Given the description of an element on the screen output the (x, y) to click on. 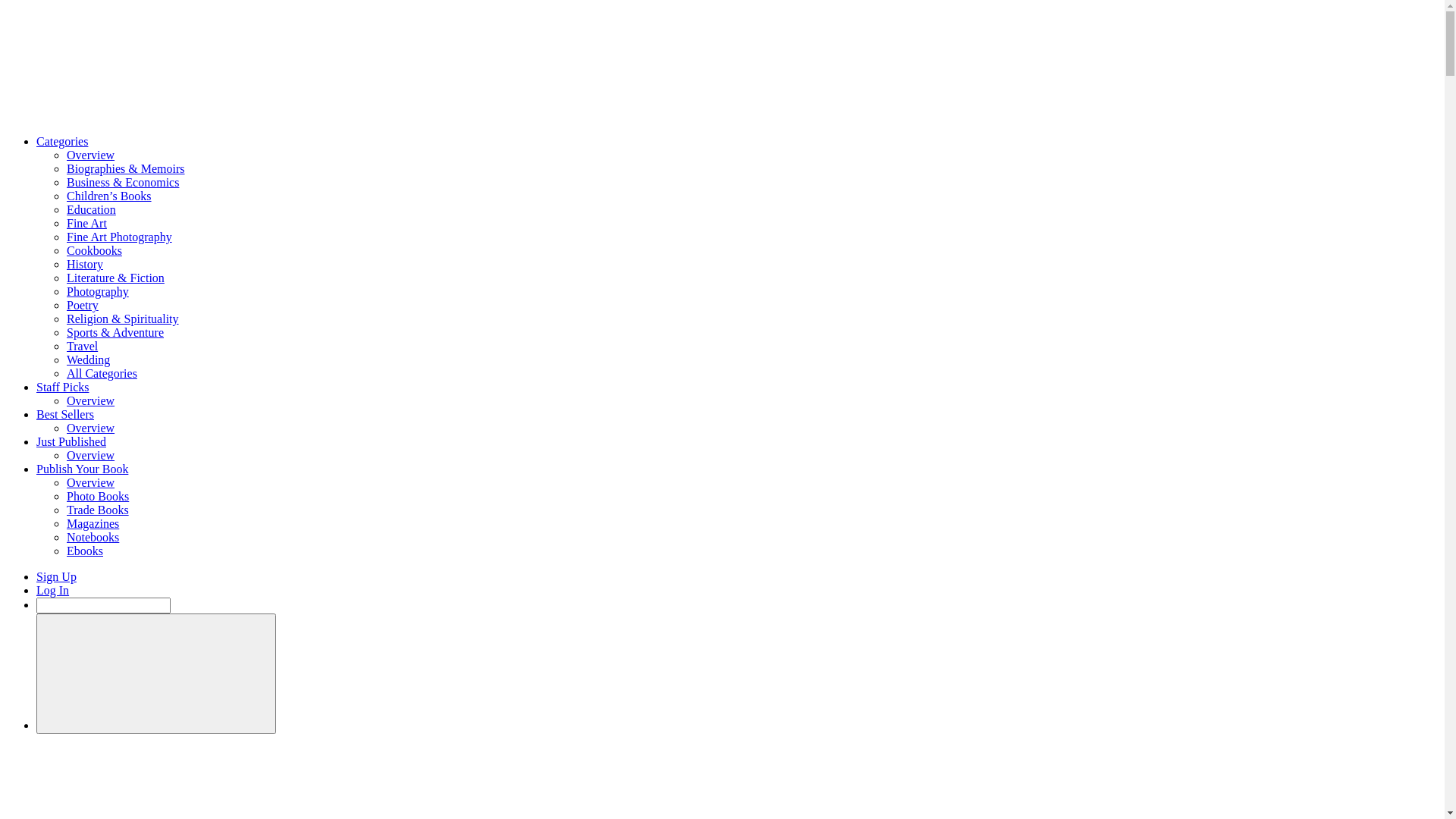
Biographies & Memoirs Element type: text (125, 168)
Fine Art Element type: text (86, 222)
Overview Element type: text (90, 482)
Fine Art Photography Element type: text (119, 236)
Ebooks Element type: text (84, 550)
Trade Books Element type: text (97, 509)
Overview Element type: text (90, 154)
Literature & Fiction Element type: text (115, 277)
Categories Element type: text (61, 140)
Notebooks Element type: text (92, 536)
Business & Economics Element type: text (122, 181)
Overview Element type: text (90, 454)
Sign Up Element type: text (56, 576)
Photography Element type: text (97, 291)
Overview Element type: text (90, 400)
Blurb Element type: hover (119, 115)
Overview Element type: text (90, 427)
Publish Your Book Element type: text (82, 468)
Travel Element type: text (81, 345)
Wedding Element type: text (87, 359)
Religion & Spirituality Element type: text (122, 318)
History Element type: text (84, 263)
Log In Element type: text (52, 589)
Sports & Adventure Element type: text (114, 332)
Magazines Element type: text (92, 523)
Cookbooks Element type: text (94, 250)
Poetry Element type: text (82, 304)
Education Element type: text (91, 209)
Just Published Element type: text (71, 441)
All Categories Element type: text (101, 373)
Best Sellers Element type: text (65, 413)
Photo Books Element type: text (97, 495)
Staff Picks Element type: text (62, 386)
United Kingdom Element type: text (156, 673)
